Given the description of an element on the screen output the (x, y) to click on. 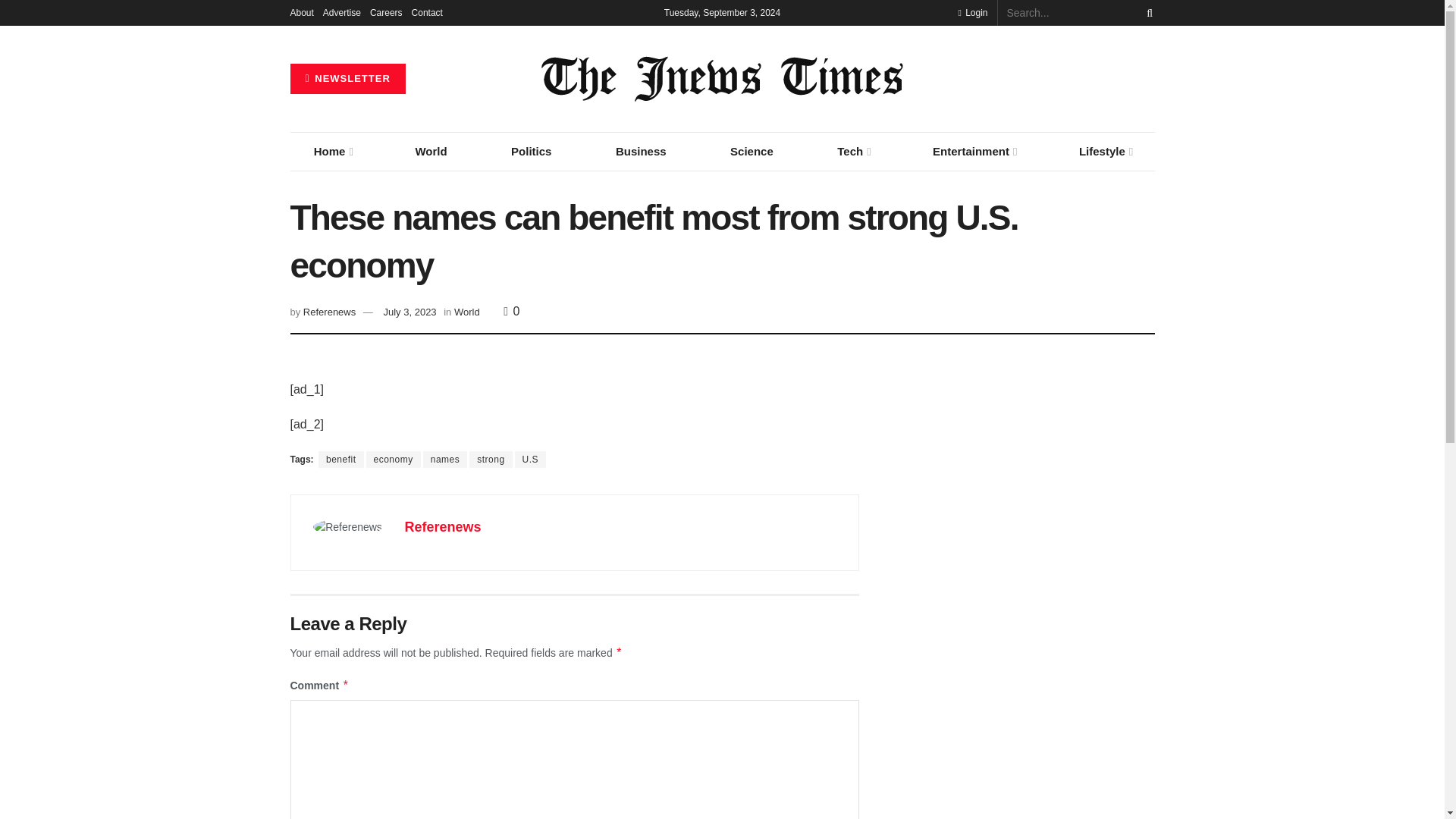
About (301, 12)
Politics (531, 151)
Advertise (342, 12)
Business (641, 151)
Science (751, 151)
World (430, 151)
NEWSLETTER (346, 78)
Login (972, 12)
Careers (386, 12)
Home (331, 151)
